Given the description of an element on the screen output the (x, y) to click on. 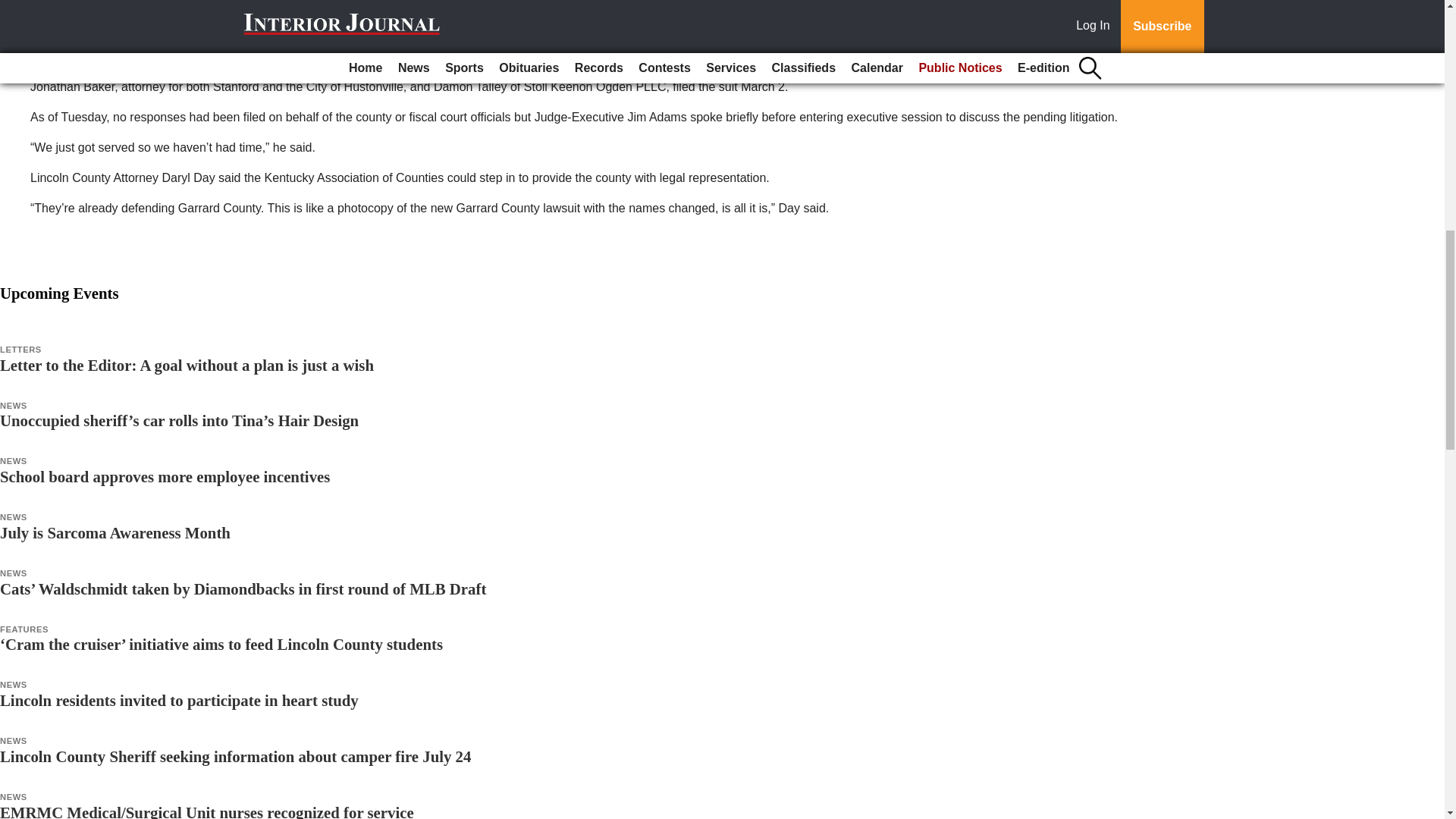
Letter to the Editor: A goal without a plan is just a wish (187, 364)
July is Sarcoma Awareness Month (115, 532)
School board approves more employee incentives (165, 476)
School board approves more employee incentives (165, 476)
July is Sarcoma Awareness Month (115, 532)
Letter to the Editor: A goal without a plan is just a wish (187, 364)
Lincoln residents invited to participate in heart study (179, 700)
Lincoln residents invited to participate in heart study (179, 700)
